Given the description of an element on the screen output the (x, y) to click on. 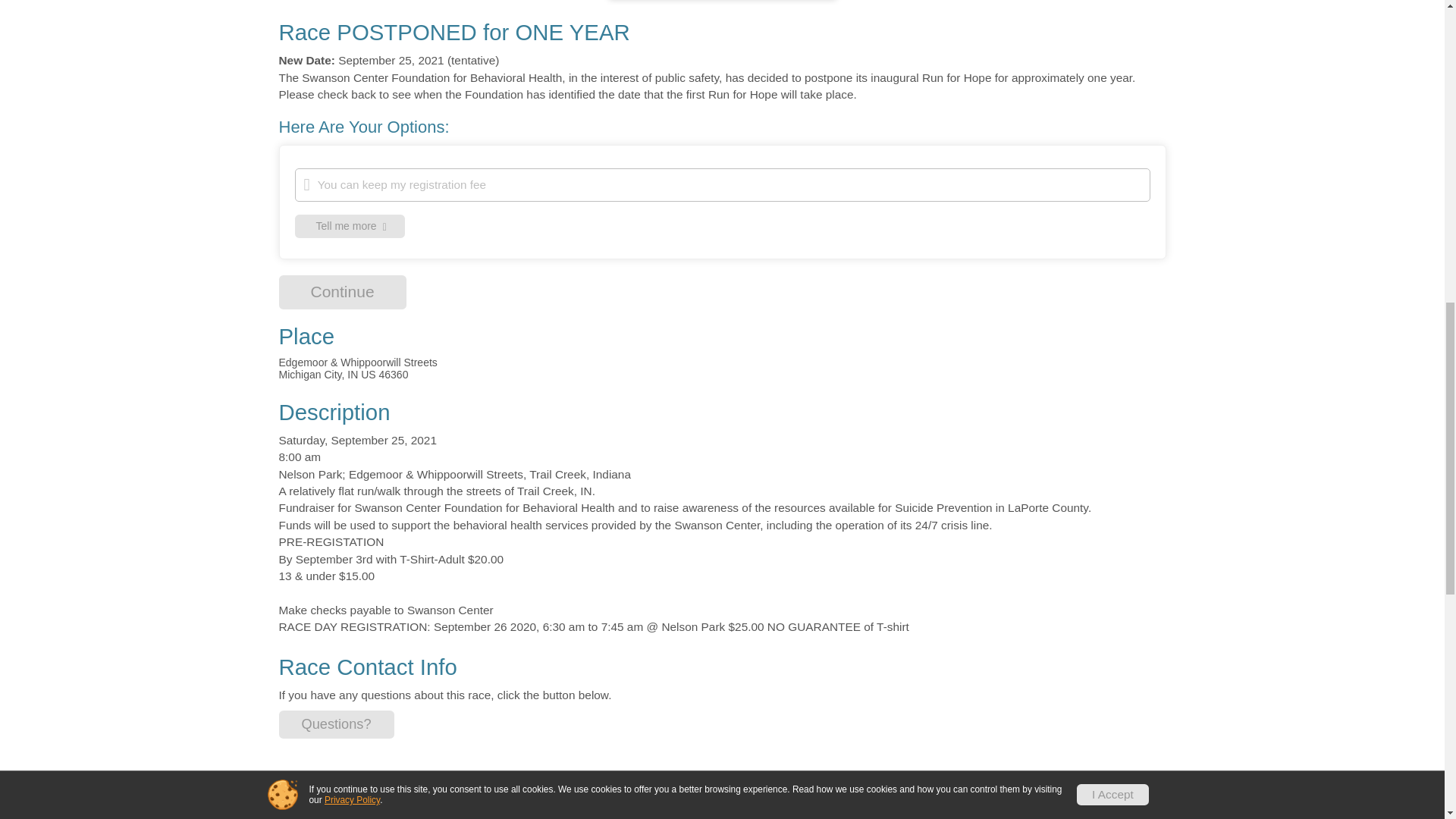
Questions? (349, 226)
Continue (336, 724)
